Given the description of an element on the screen output the (x, y) to click on. 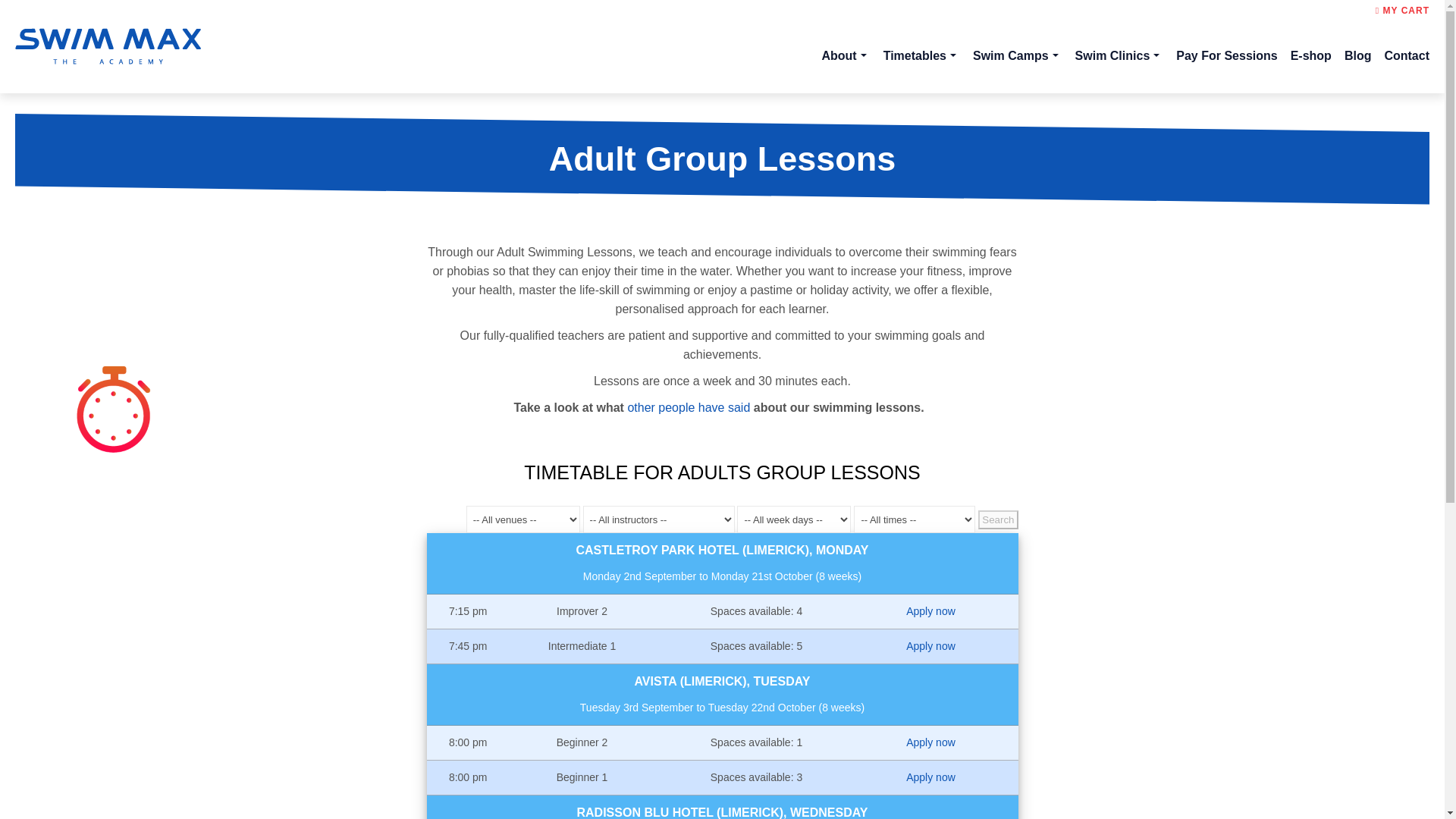
Timetables (921, 58)
Search (997, 518)
Search (997, 518)
About (845, 58)
